Given the description of an element on the screen output the (x, y) to click on. 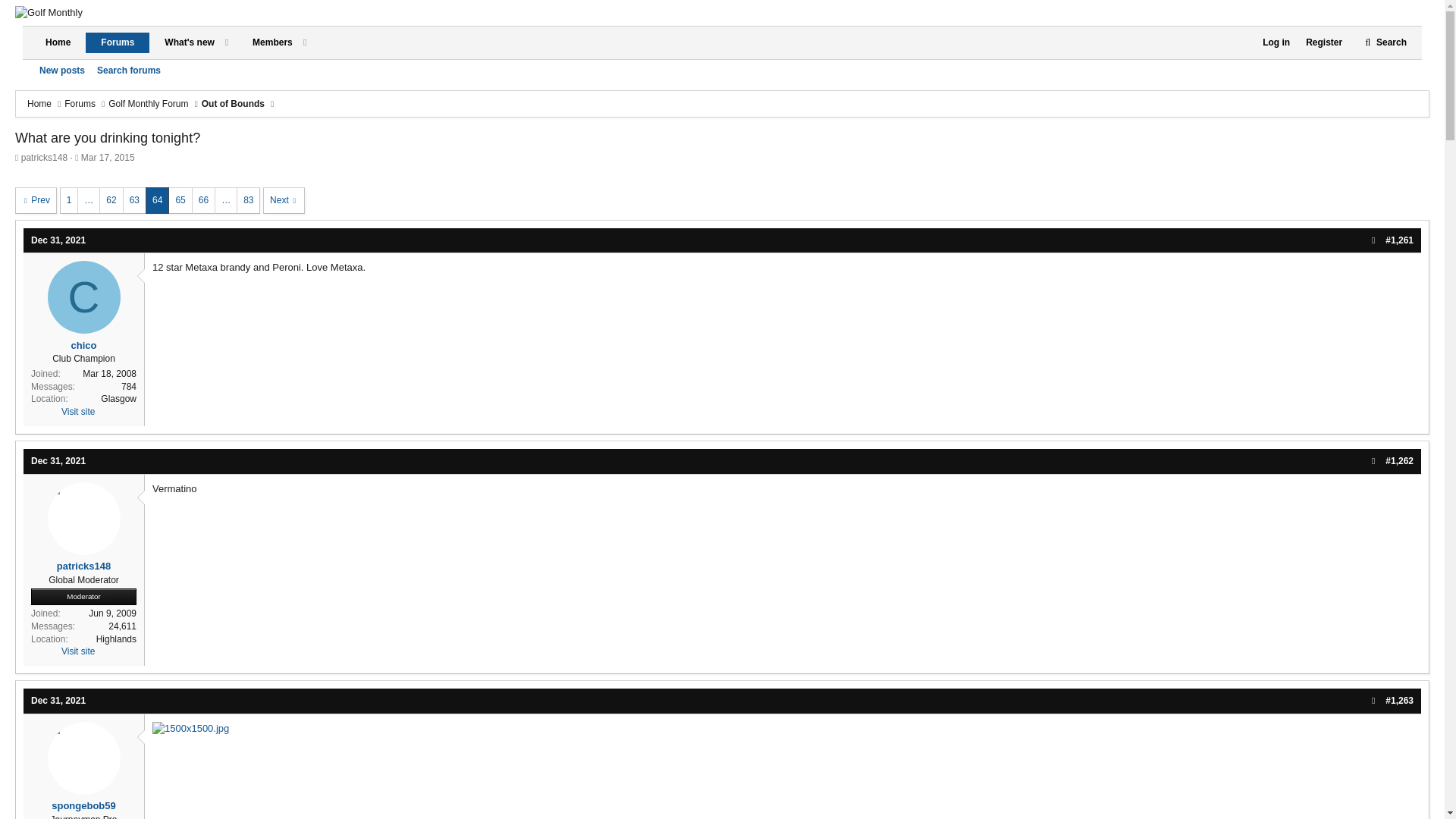
Mar 17, 2015 (108, 157)
Mar 17, 2015 at 8:32 PM (108, 157)
Out of Bounds (233, 103)
Home (57, 42)
Forums (80, 103)
What's new (182, 42)
Dec 31, 2021 at 7:38 PM (57, 460)
Dec 31, 2021 at 7:46 PM (57, 700)
New posts (61, 70)
Forums (117, 42)
